Given the description of an element on the screen output the (x, y) to click on. 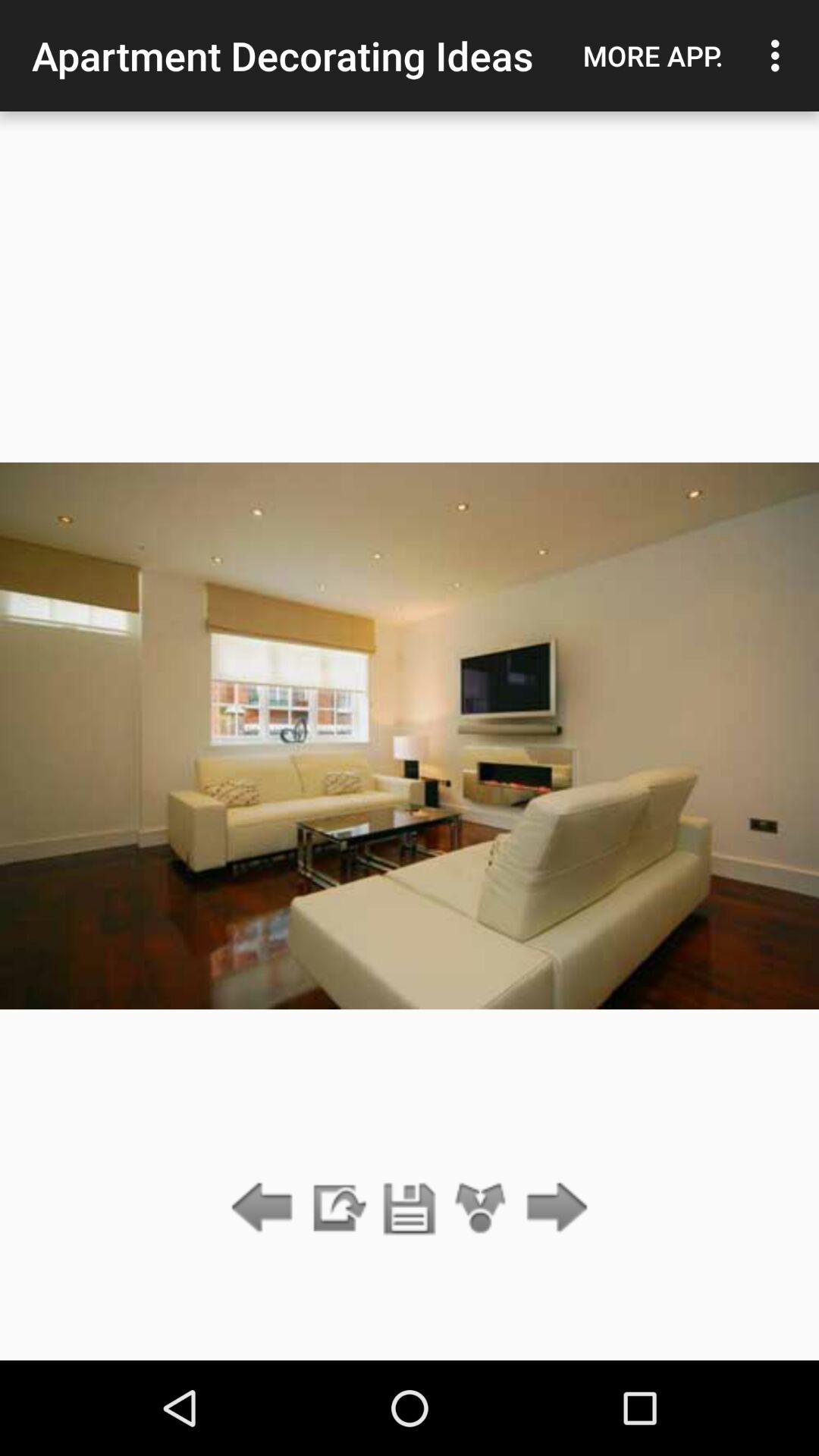
turn off app below apartment decorating ideas item (409, 1208)
